Given the description of an element on the screen output the (x, y) to click on. 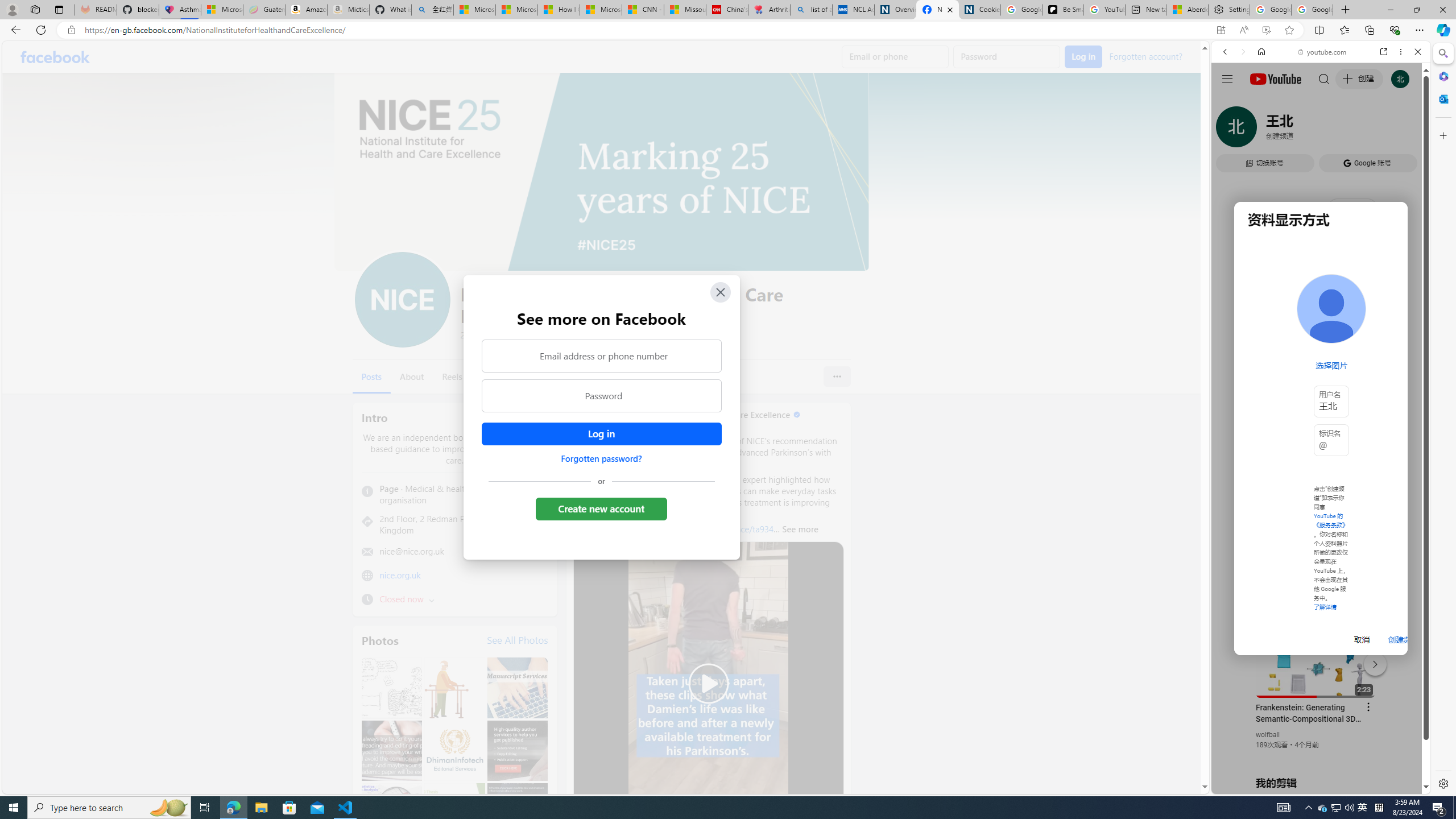
CNN - MSN (642, 9)
